Given the description of an element on the screen output the (x, y) to click on. 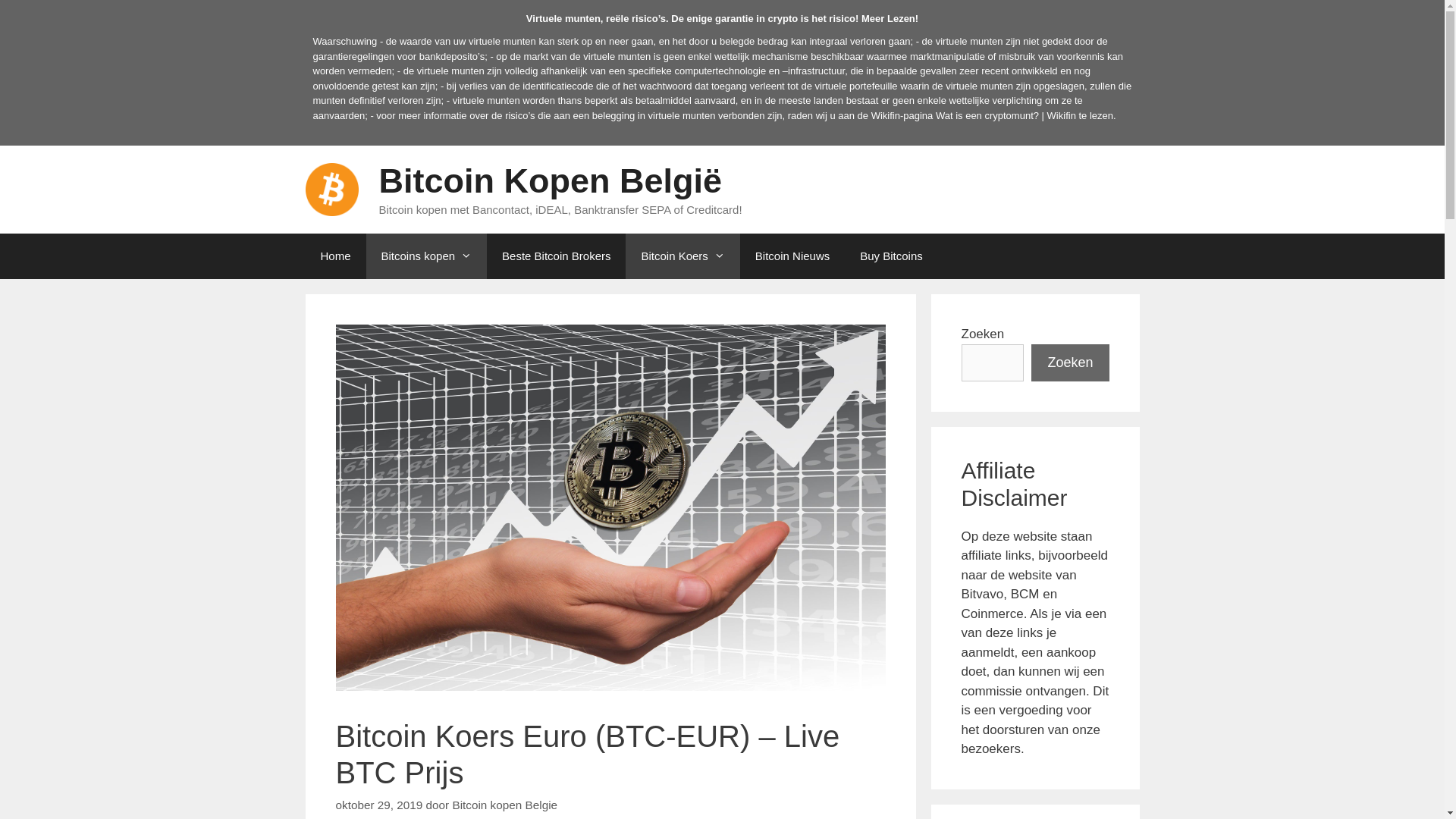
Zoeken Element type: text (1069, 362)
Wat is een cryptomunt? | Wikifin te lezen Element type: text (1024, 114)
Bitcoins kopen Element type: text (426, 256)
Bitcoin Nieuws Element type: text (792, 256)
Bitcoin Koers Element type: text (682, 256)
Buy Bitcoins Element type: text (891, 256)
Meer Lezen! Element type: text (889, 18)
Bitcoin kopen Belgie Element type: text (504, 804)
Home Element type: text (334, 256)
Beste Bitcoin Brokers Element type: text (555, 256)
